Given the description of an element on the screen output the (x, y) to click on. 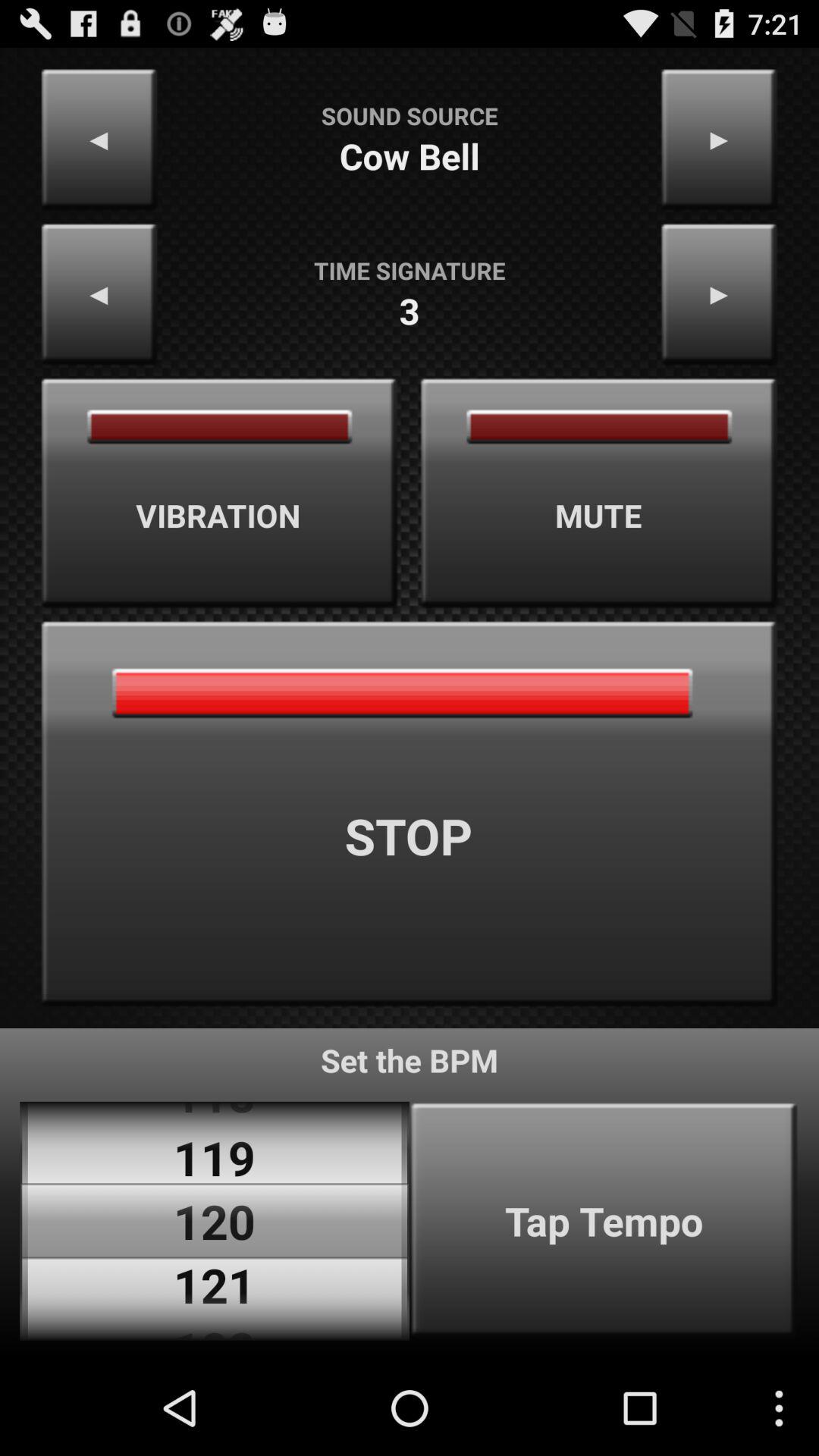
click app above set the bpm app (409, 813)
